Given the description of an element on the screen output the (x, y) to click on. 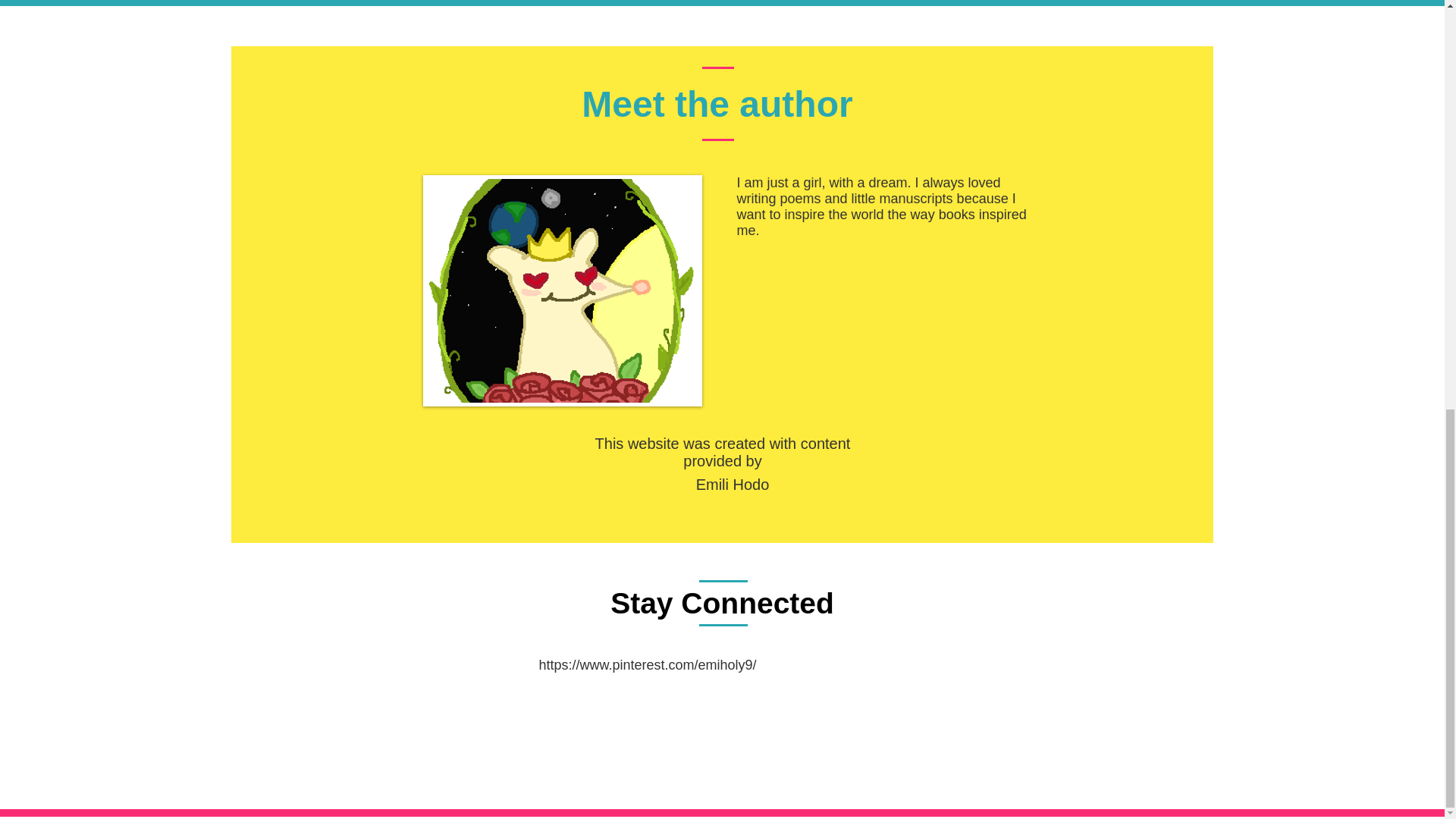
Rat-persona.png (562, 290)
